Given the description of an element on the screen output the (x, y) to click on. 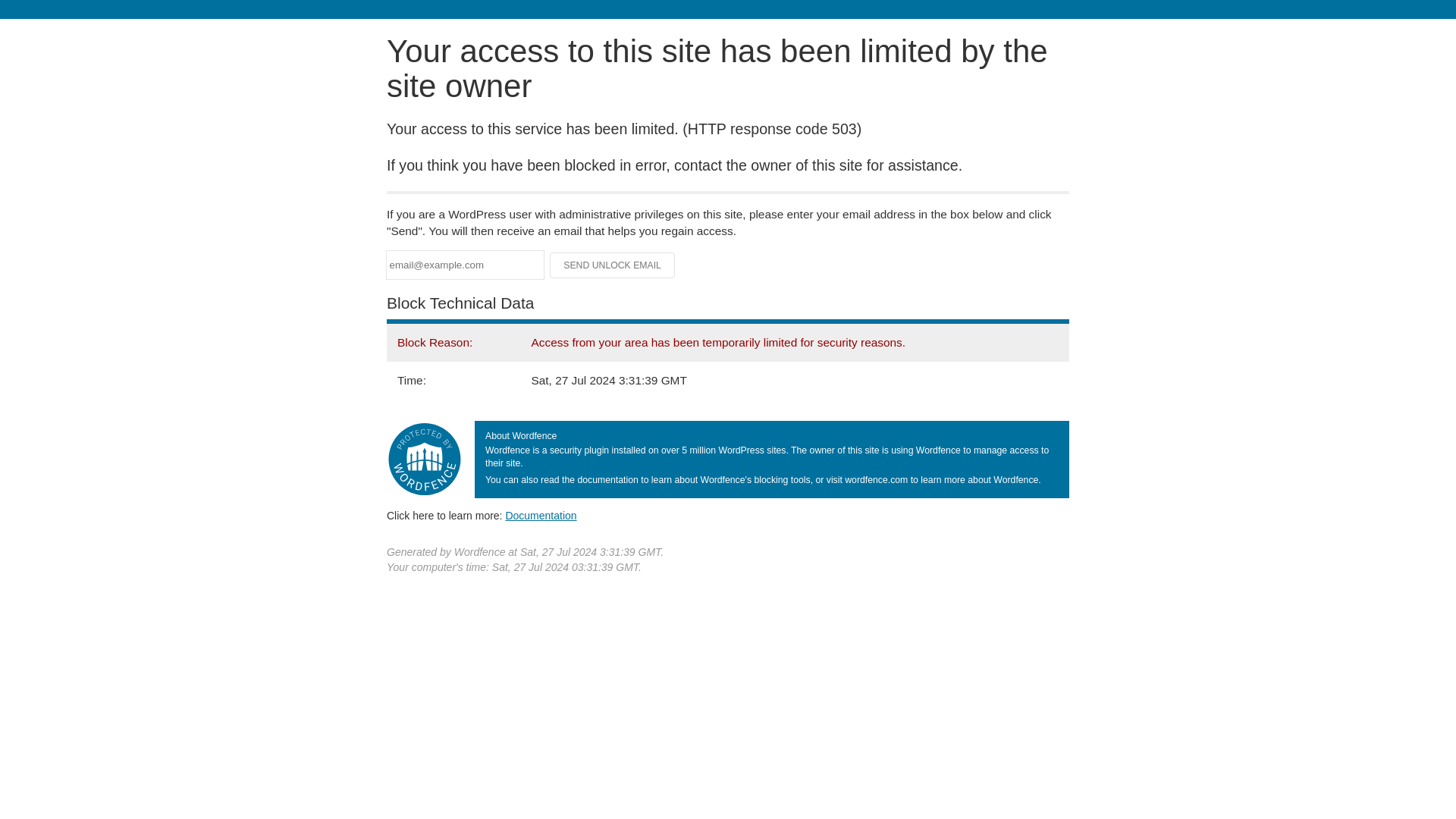
Documentation (540, 515)
Send Unlock Email (612, 265)
Send Unlock Email (612, 265)
